Given the description of an element on the screen output the (x, y) to click on. 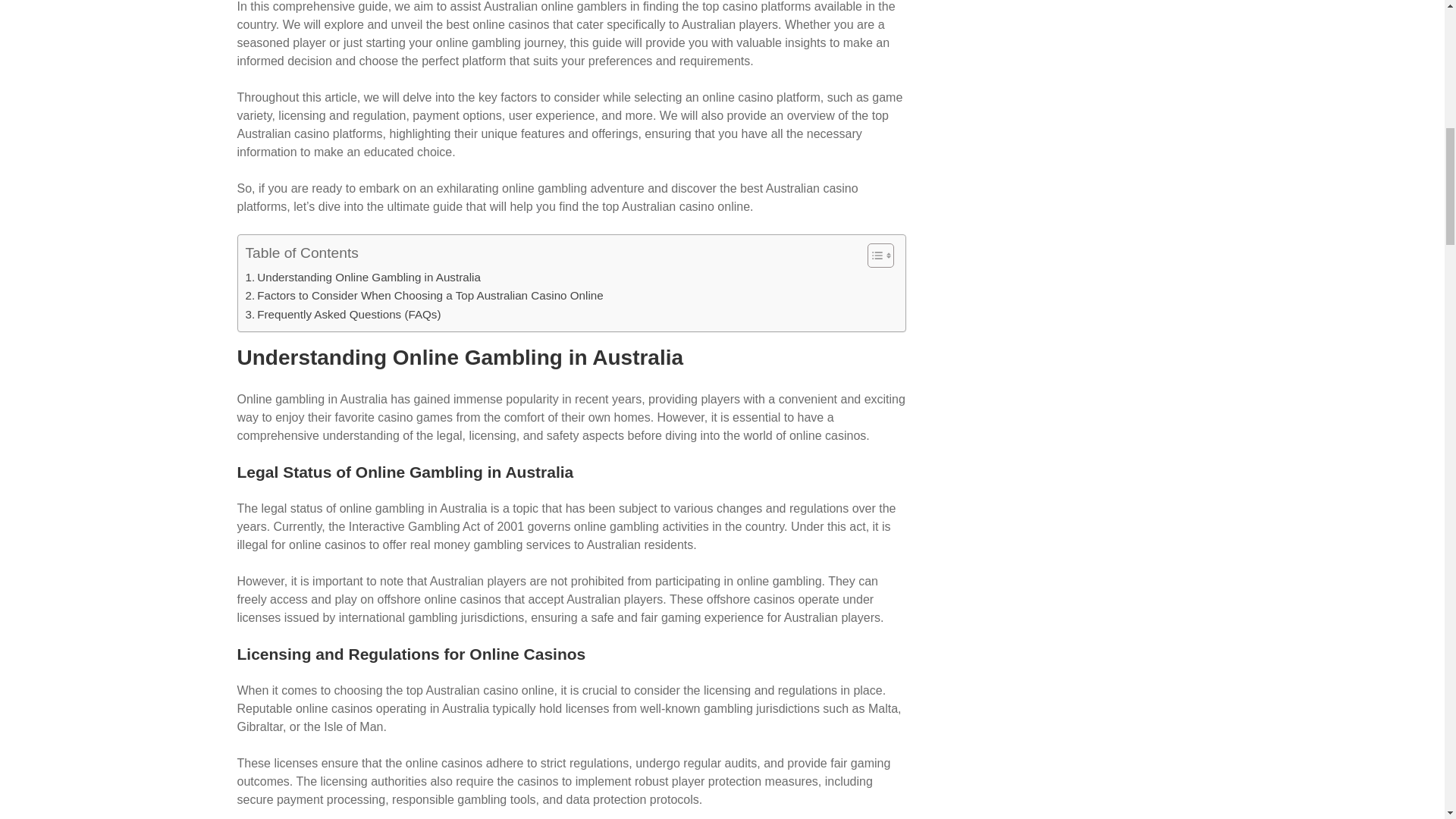
Understanding Online Gambling in Australia (363, 277)
Understanding Online Gambling in Australia (363, 277)
